Given the description of an element on the screen output the (x, y) to click on. 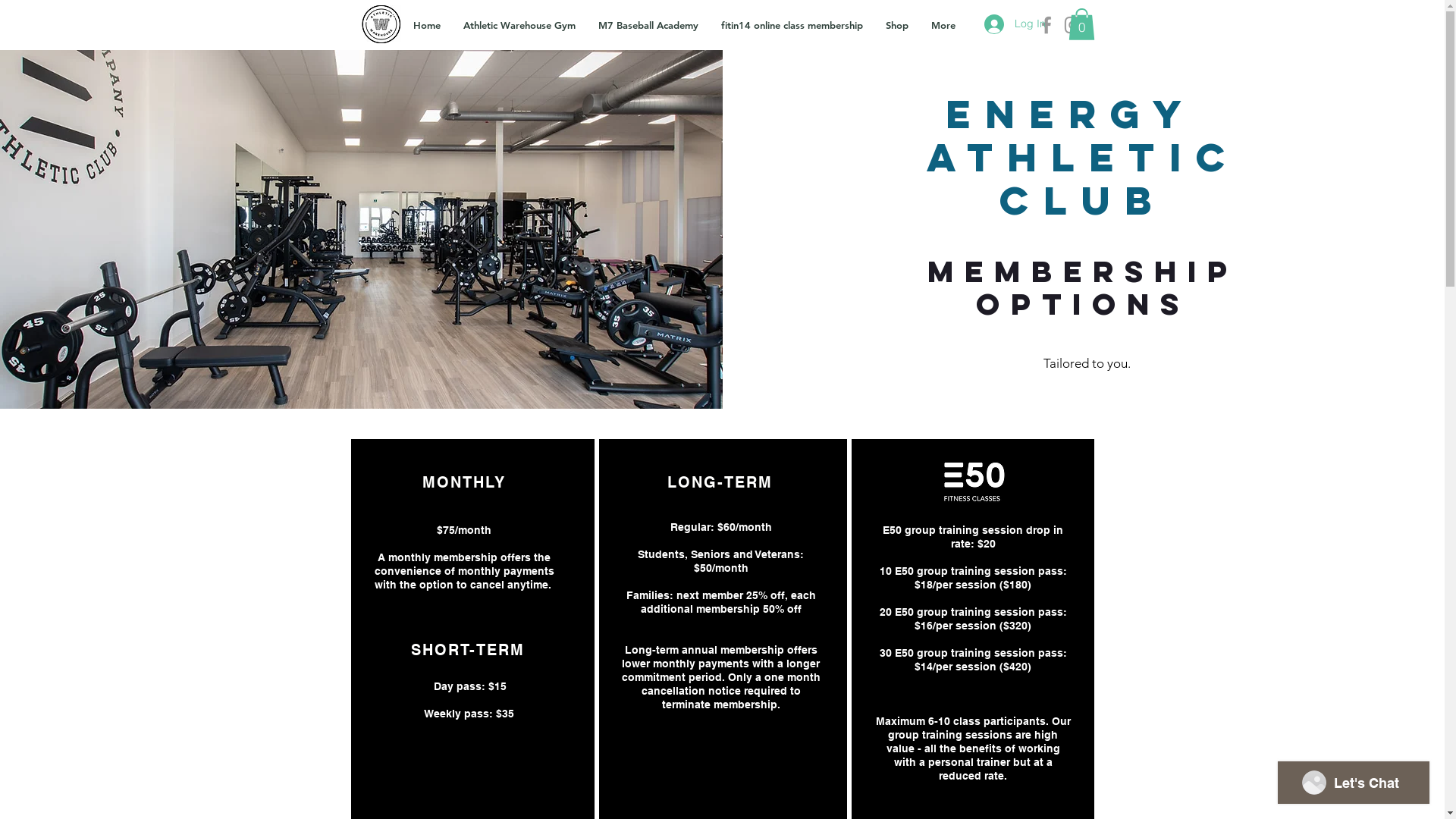
Log In Element type: text (1014, 23)
fitin14 online class membership Element type: text (791, 24)
M7 Baseball Academy Element type: text (647, 24)
Athletic Warehouse Gym Element type: text (518, 24)
0 Element type: text (1080, 24)
Home Element type: text (426, 24)
Shop Element type: text (896, 24)
